Given the description of an element on the screen output the (x, y) to click on. 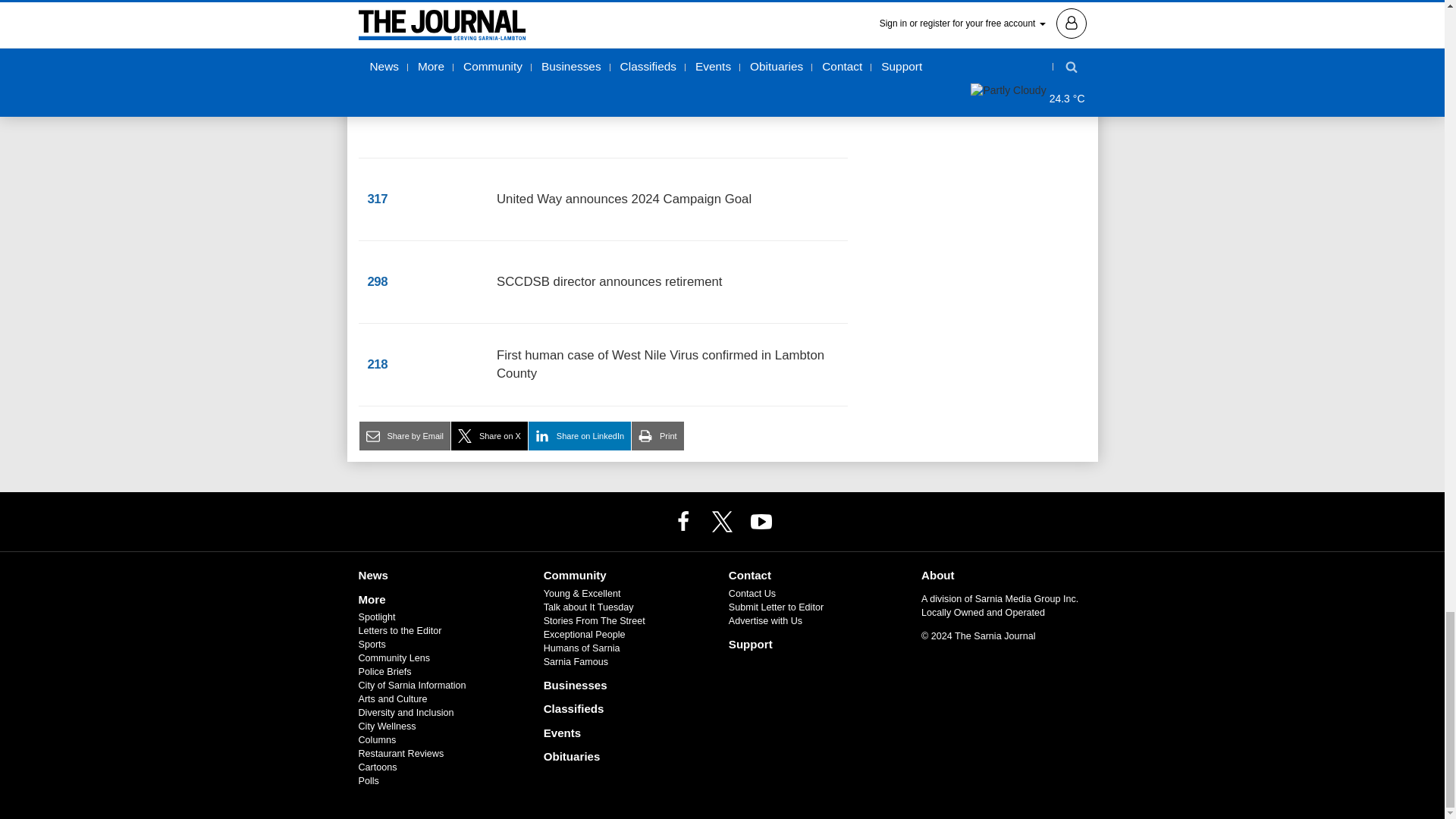
Facebook (683, 520)
X (721, 520)
YouTube (760, 520)
